Given the description of an element on the screen output the (x, y) to click on. 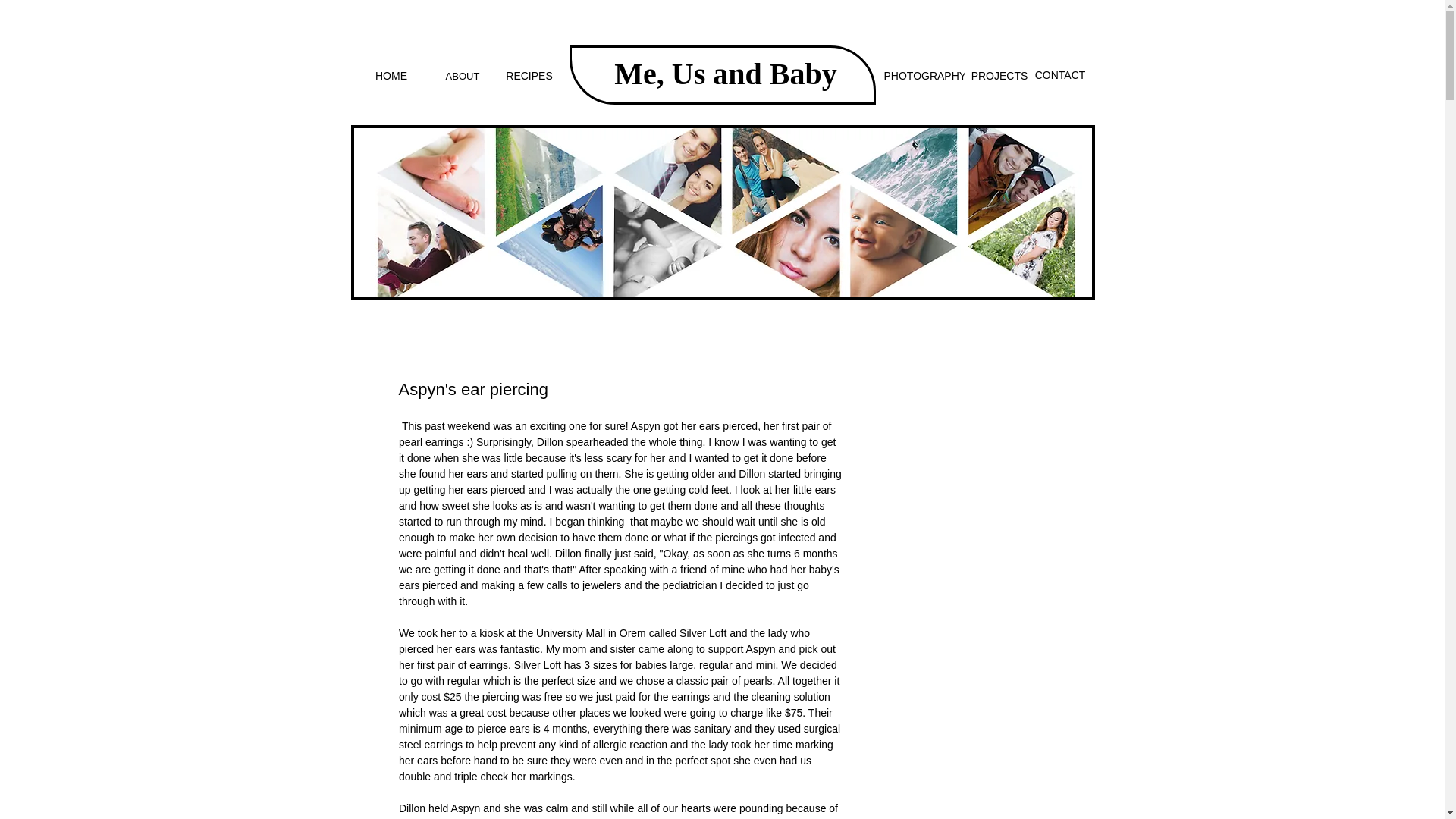
PHOTOGRAPHY (924, 76)
CONTACT (1059, 75)
RECIPES (529, 76)
PROJECTS (998, 76)
HOME (390, 76)
Me, Us and Baby (724, 73)
